Given the description of an element on the screen output the (x, y) to click on. 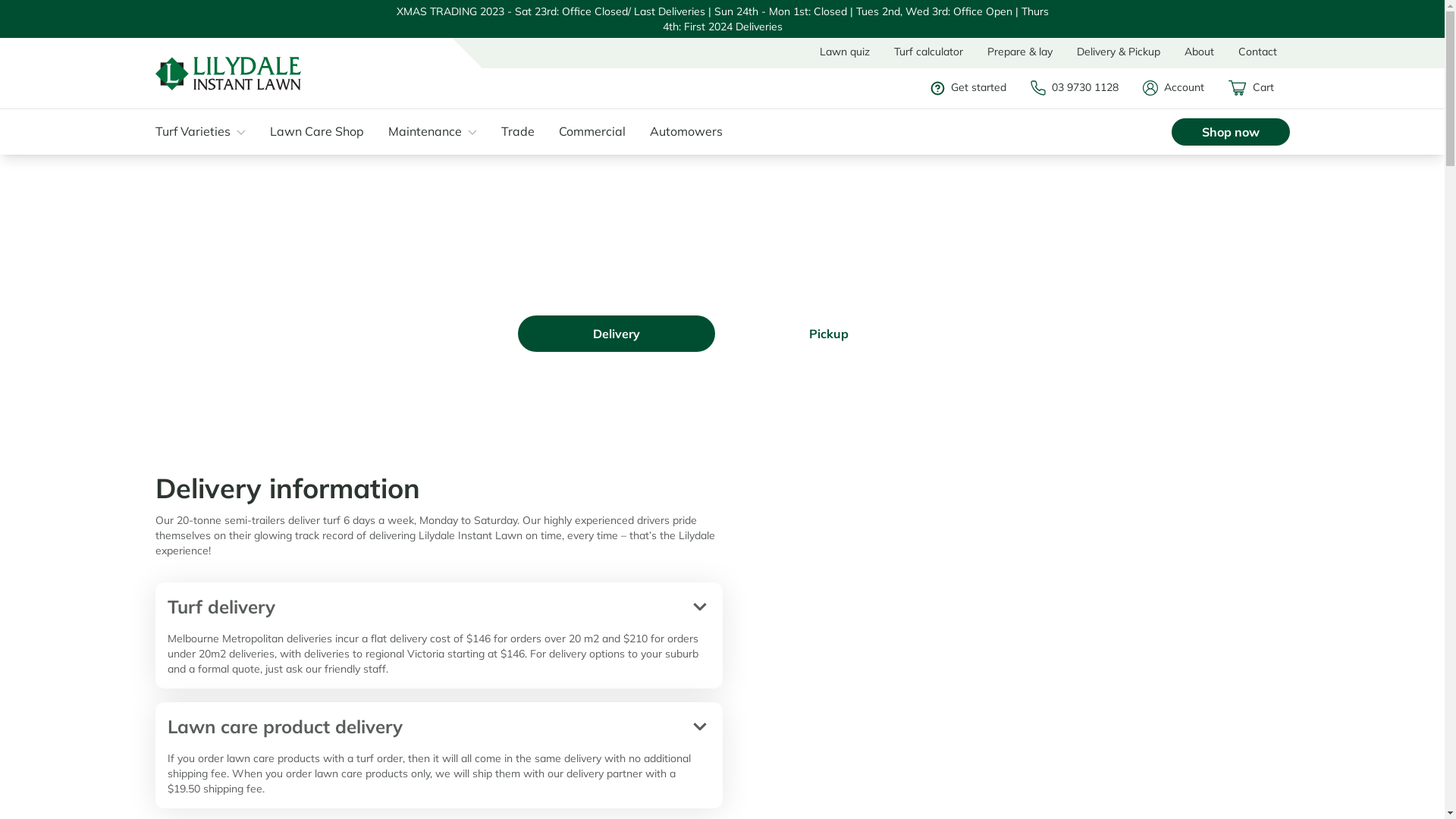
Delivery Element type: text (615, 333)
Lawn care product delivery Element type: text (437, 726)
About Element type: text (1199, 51)
Turf Varieties Element type: text (207, 130)
Trade Element type: text (524, 130)
Account Element type: text (1180, 87)
Maintenance Element type: text (440, 130)
Commercial Element type: text (599, 130)
Turf calculator Element type: text (928, 51)
Lawn Care Shop Element type: text (324, 130)
Contact Element type: text (1257, 51)
Pickup Element type: text (827, 333)
Shop now Element type: text (1229, 131)
Lawn quiz Element type: text (844, 51)
Cart Element type: text (1258, 87)
Get started Element type: text (975, 87)
Automowers Element type: text (693, 130)
Delivery & Pickup Element type: text (1118, 51)
Prepare & lay Element type: text (1019, 51)
03 9730 1128 Element type: text (1081, 87)
Turf delivery Element type: text (437, 606)
